Given the description of an element on the screen output the (x, y) to click on. 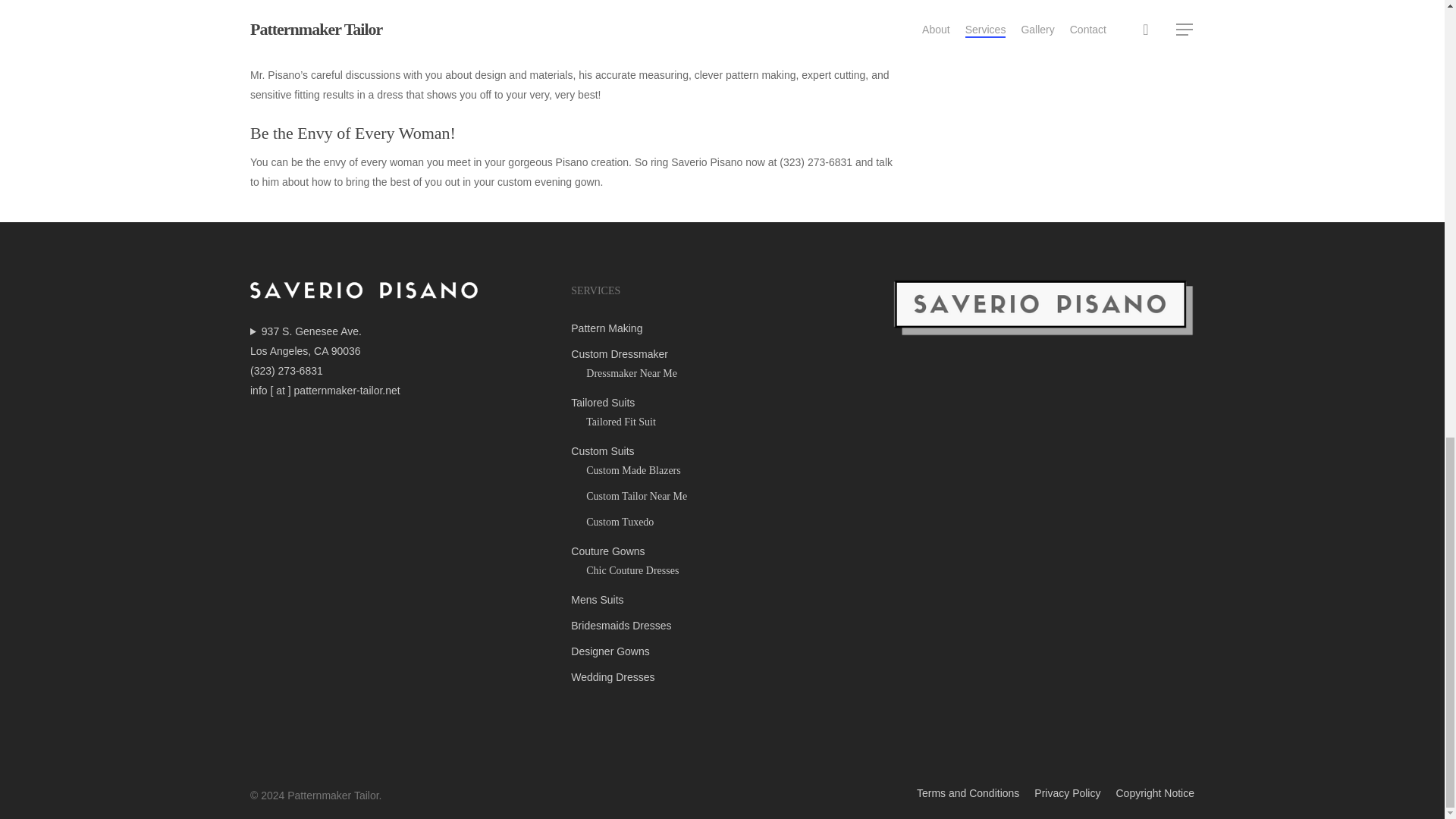
Custom Tuxedo (729, 522)
Tailored Suits (721, 402)
Pattern Making (721, 328)
Chic Couture Dresses (729, 570)
Couture Gowns (721, 551)
Dressmaker Near Me (729, 373)
Custom Made Blazers (729, 470)
Mens Suits (721, 599)
Custom Suits (721, 451)
Custom Dressmaker (721, 353)
Bridesmaids Dresses (721, 625)
Tailored Fit Suit (729, 422)
Custom Tailor Near Me (729, 496)
Designer Gowns (721, 650)
